Given the description of an element on the screen output the (x, y) to click on. 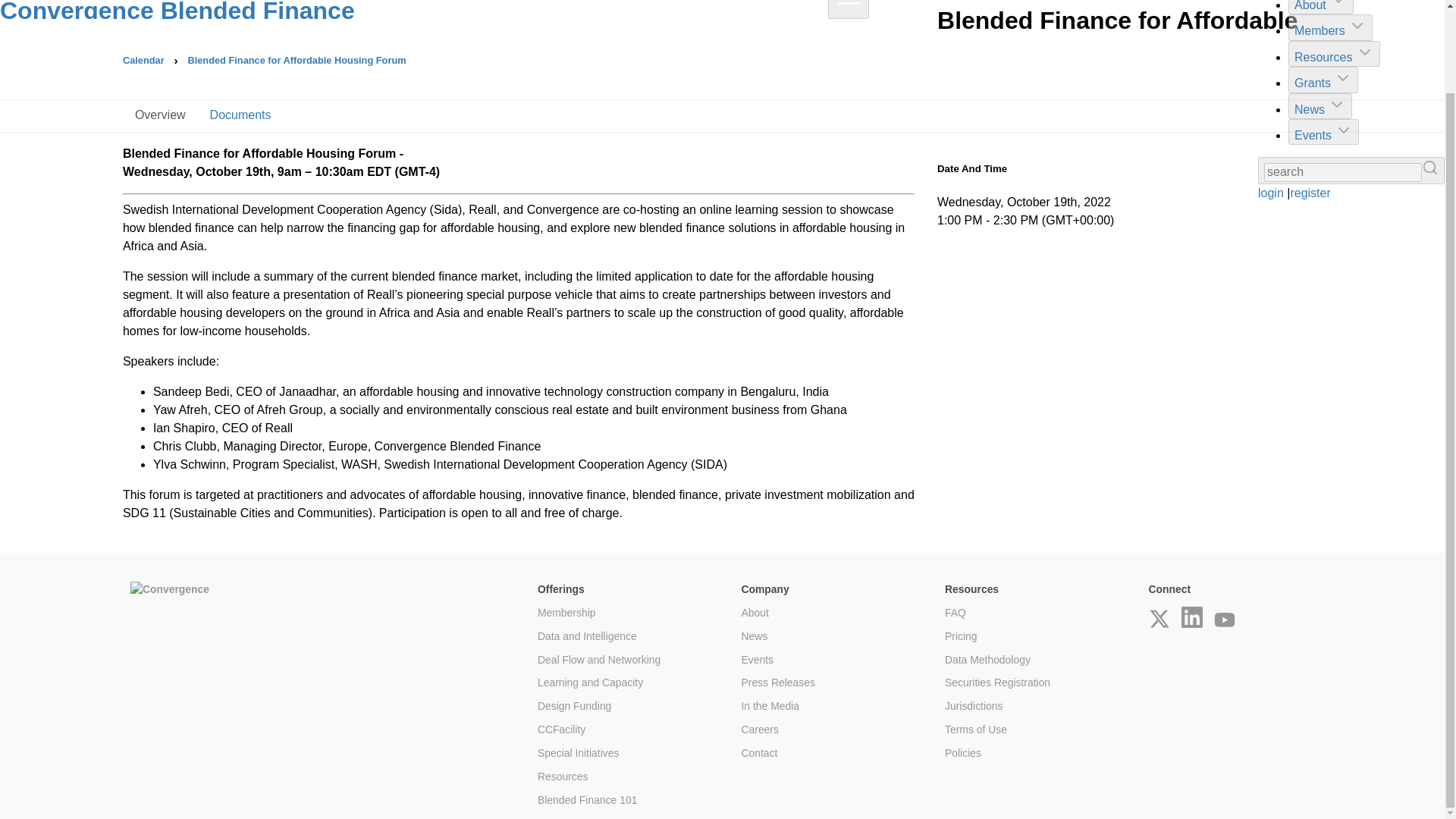
Contact (759, 752)
Events (757, 659)
In the Media (770, 705)
Data and Intelligence (587, 635)
News (754, 635)
Membership (566, 612)
Deal Flow and Networking (599, 659)
Learning and Capacity (590, 682)
Press Releases (777, 682)
In the Media (770, 705)
Events (757, 659)
Resources (562, 776)
Design Funding (574, 705)
News (1320, 35)
FAQ (955, 612)
